Given the description of an element on the screen output the (x, y) to click on. 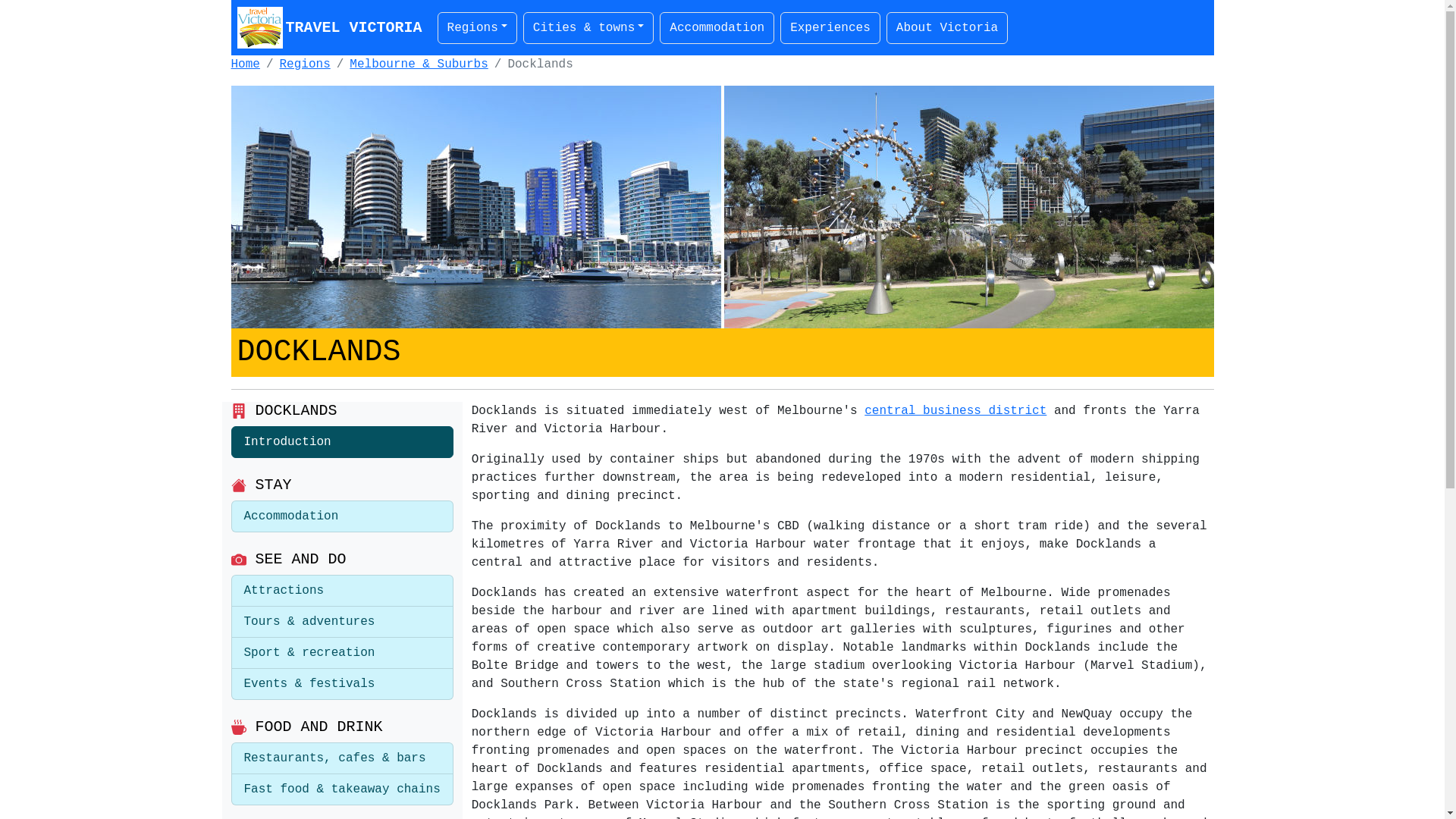
Restaurants, cafes & bars Element type: text (341, 758)
central business district Element type: text (955, 410)
Events & festivals Element type: text (341, 683)
Accommodation Element type: text (716, 27)
About Victoria Element type: text (947, 27)
Regions Element type: text (304, 64)
Home Element type: text (244, 64)
Attractions Element type: text (341, 590)
Fast food & takeaway chains Element type: text (341, 789)
TRAVEL VICTORIA Element type: text (327, 27)
Introduction Element type: text (341, 442)
Tours & adventures Element type: text (341, 621)
Cities & towns Element type: text (588, 27)
Experiences Element type: text (830, 27)
Melbourne & Suburbs Element type: text (418, 64)
Accommodation Element type: text (341, 516)
Regions Element type: text (477, 27)
Sport & recreation Element type: text (341, 652)
